Given the description of an element on the screen output the (x, y) to click on. 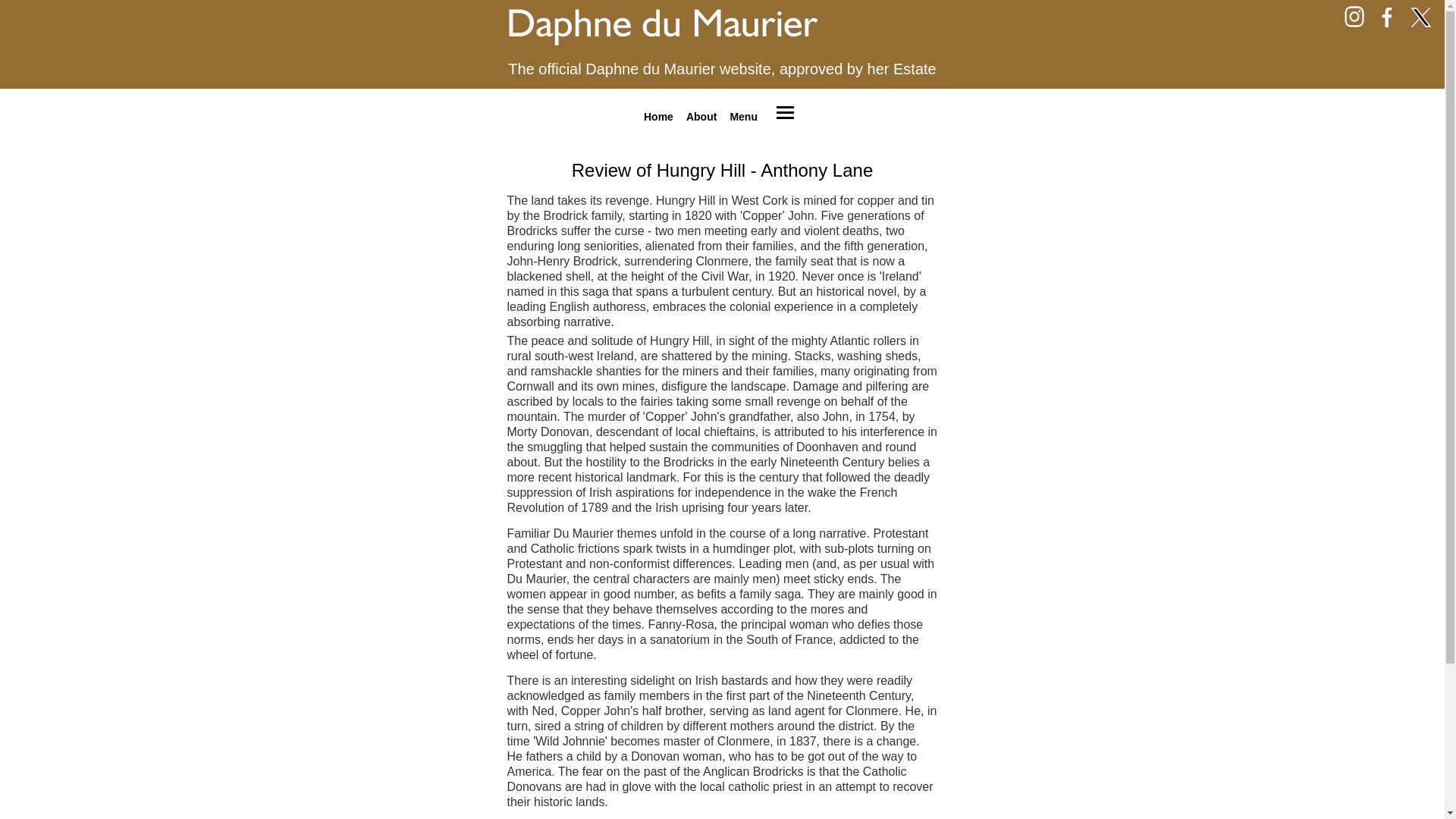
About (701, 116)
Home (658, 116)
Menu (743, 116)
